Given the description of an element on the screen output the (x, y) to click on. 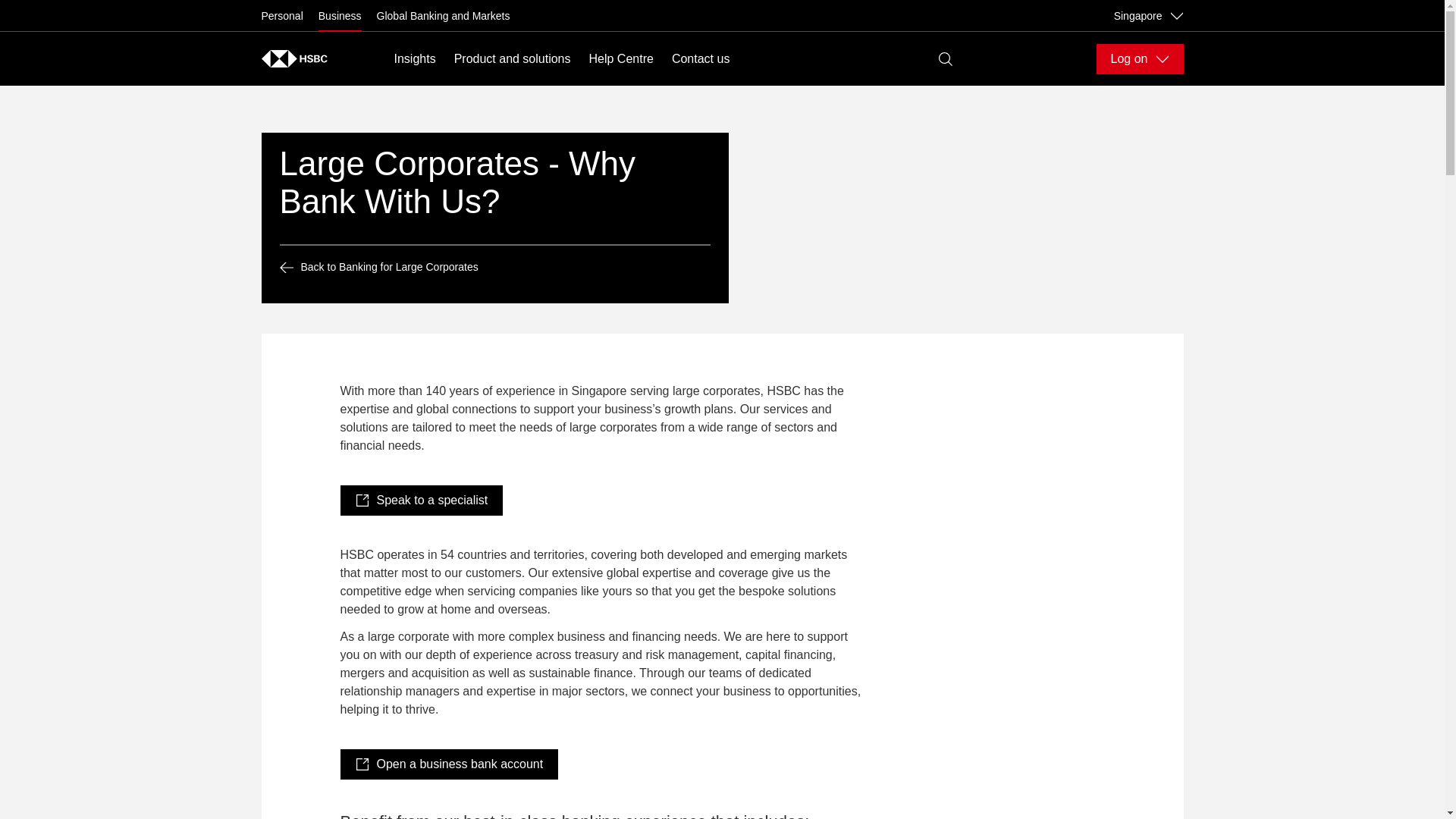
Business (339, 15)
Contact us (700, 58)
Insights (414, 58)
Speak to a specialist (420, 500)
Back to Banking for Large Corporates (494, 266)
Global Banking and Markets (444, 15)
Product and solutions (512, 58)
Help Centre (621, 58)
Personal (281, 15)
